Given the description of an element on the screen output the (x, y) to click on. 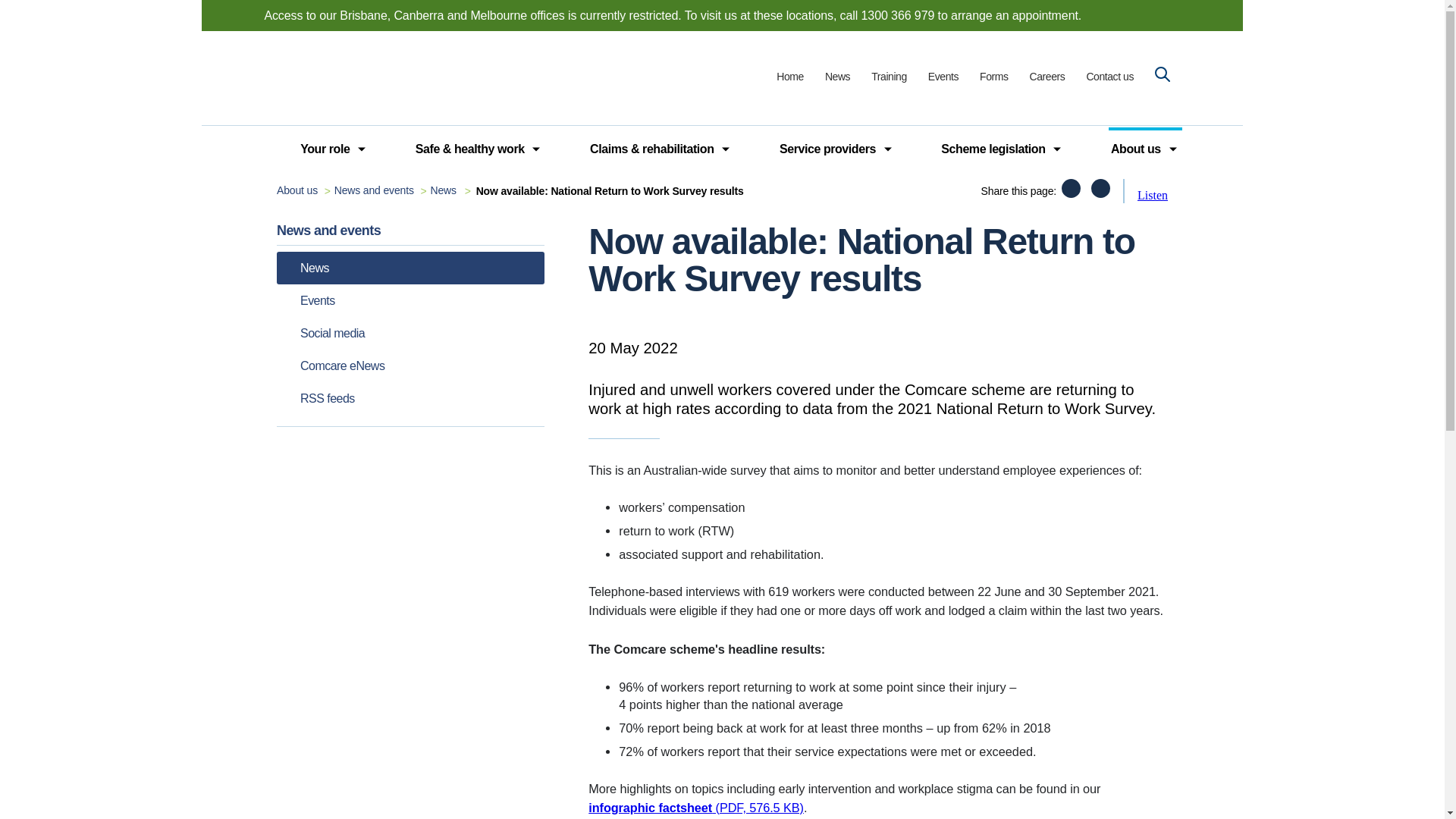
Service providers (827, 149)
Your role (325, 149)
Listen to this page using ReadSpeaker (1152, 195)
